Given the description of an element on the screen output the (x, y) to click on. 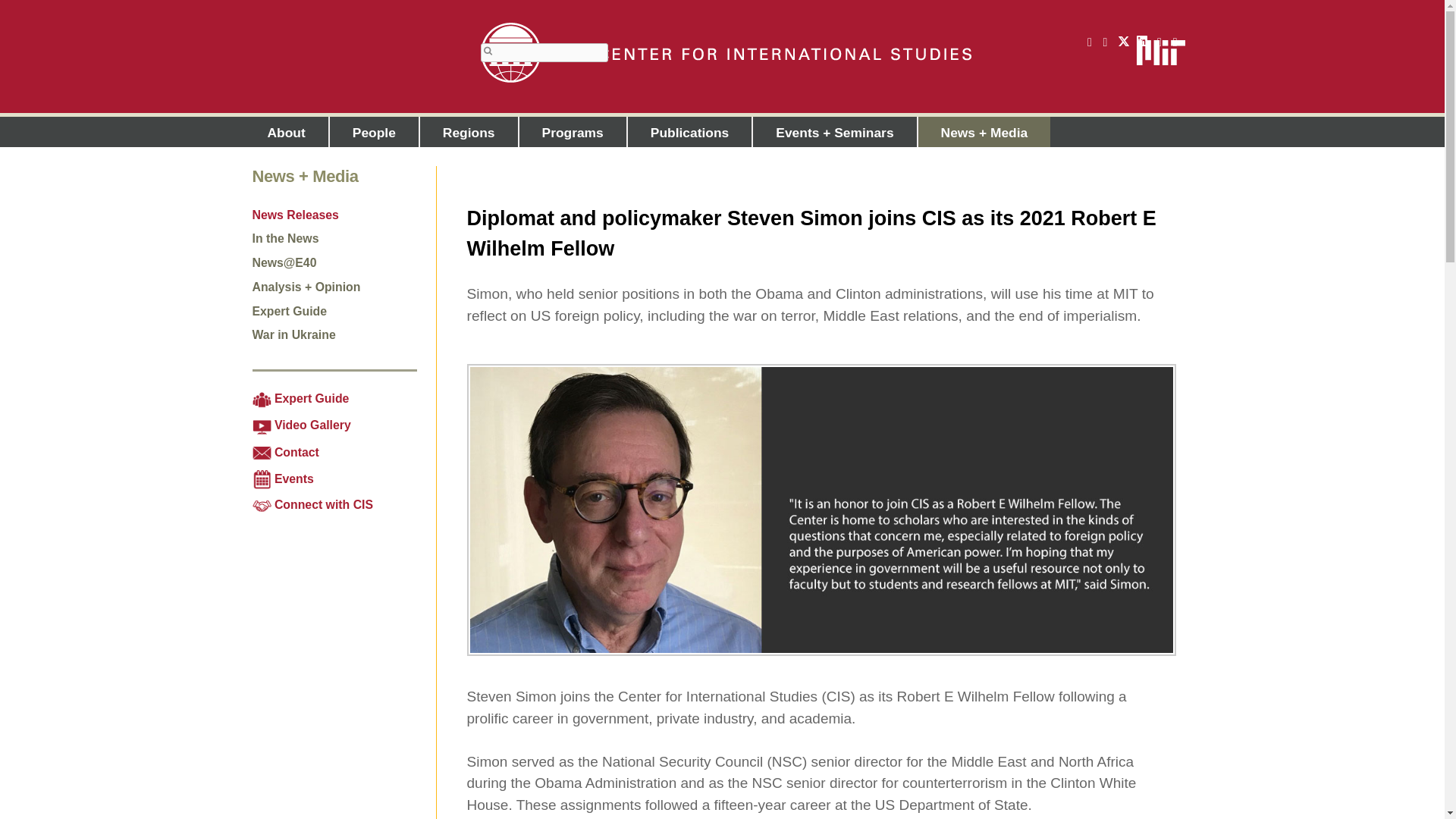
People (374, 132)
Home page (725, 52)
Search (488, 50)
Search (488, 50)
Programs (572, 132)
Regions (469, 132)
About (285, 132)
Publications (689, 132)
Enter the terms you wish to search for. (544, 53)
